Given the description of an element on the screen output the (x, y) to click on. 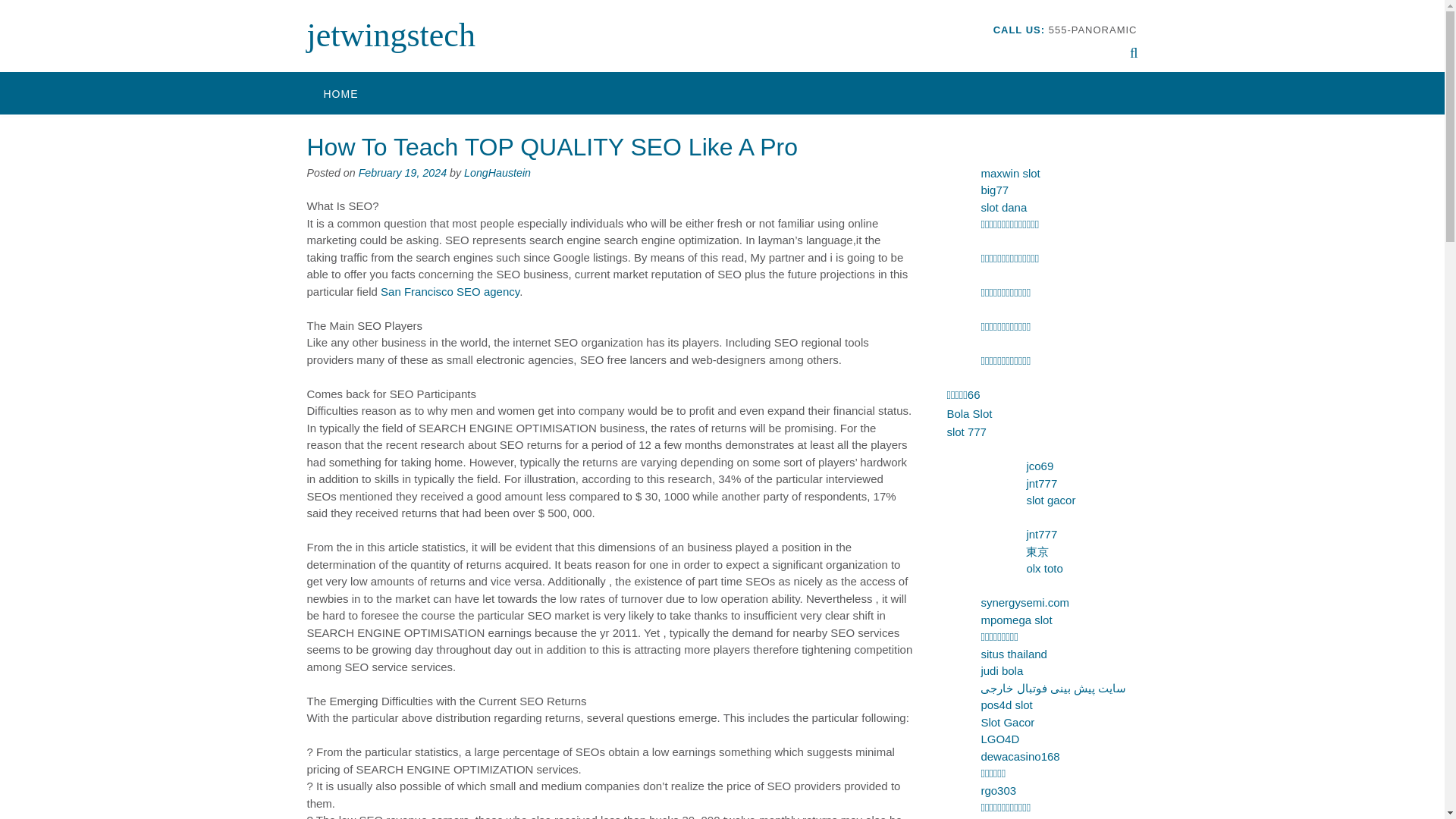
HOME (339, 92)
February 19, 2024 (402, 173)
maxwin slot (1009, 173)
jnt777 (1041, 533)
LongHaustein (497, 173)
jnt777 (1041, 481)
San Francisco SEO agency (449, 291)
mpomega slot (1015, 618)
situs thailand (1012, 653)
synergysemi.com (1023, 602)
